Given the description of an element on the screen output the (x, y) to click on. 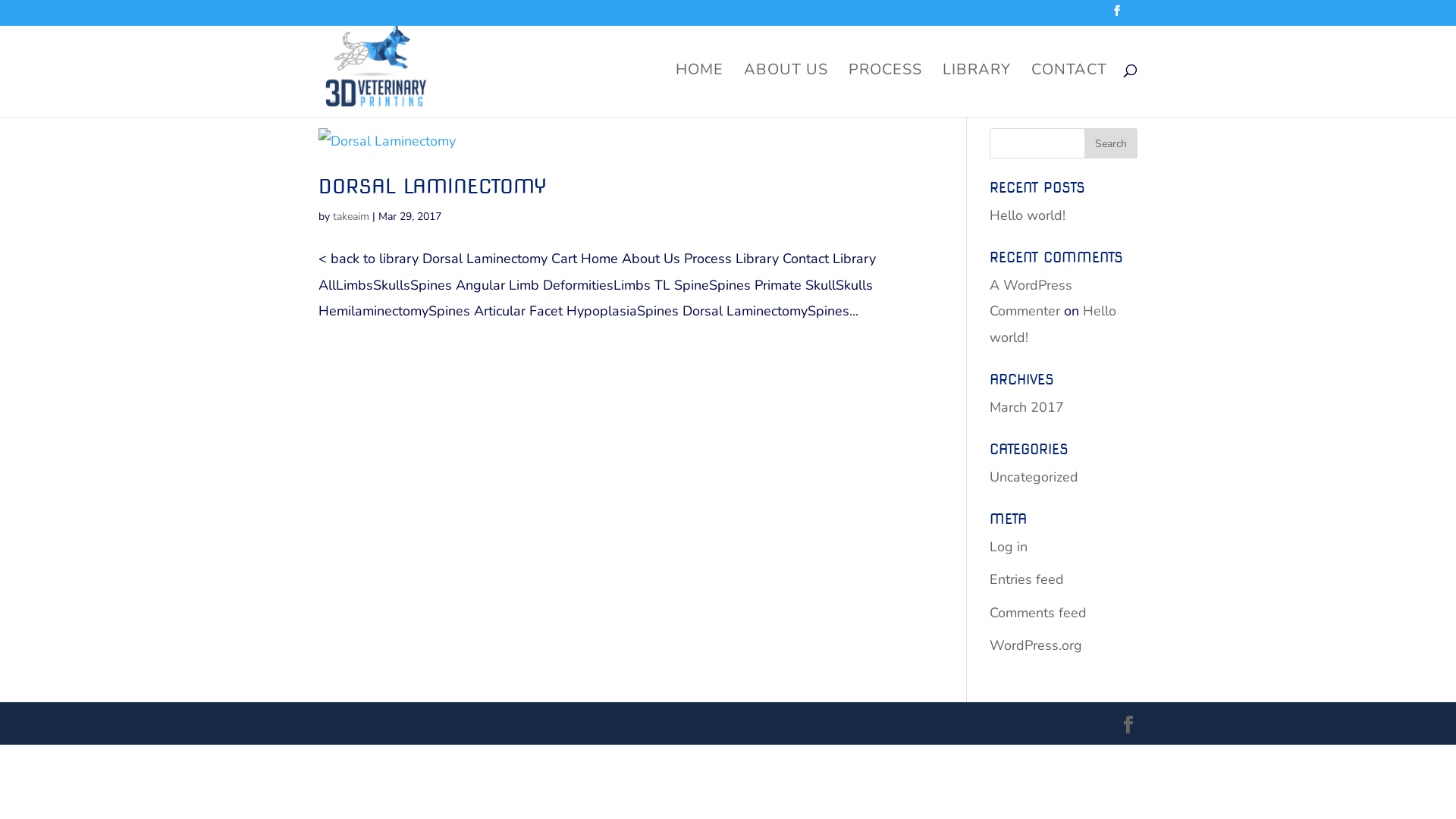
Comments feed Element type: text (1037, 612)
Entries feed Element type: text (1026, 579)
Search Element type: text (1110, 143)
A WordPress Commenter Element type: text (1030, 298)
March 2017 Element type: text (1026, 407)
HOME Element type: text (699, 90)
Hello world! Element type: text (1027, 215)
Uncategorized Element type: text (1033, 476)
ABOUT US Element type: text (785, 90)
PROCESS Element type: text (885, 90)
Hello world! Element type: text (1052, 323)
DORSAL LAMINECTOMY Element type: text (432, 185)
WordPress.org Element type: text (1035, 645)
Log in Element type: text (1008, 546)
CONTACT Element type: text (1069, 90)
LIBRARY Element type: text (976, 90)
takeaim Element type: text (350, 216)
